Given the description of an element on the screen output the (x, y) to click on. 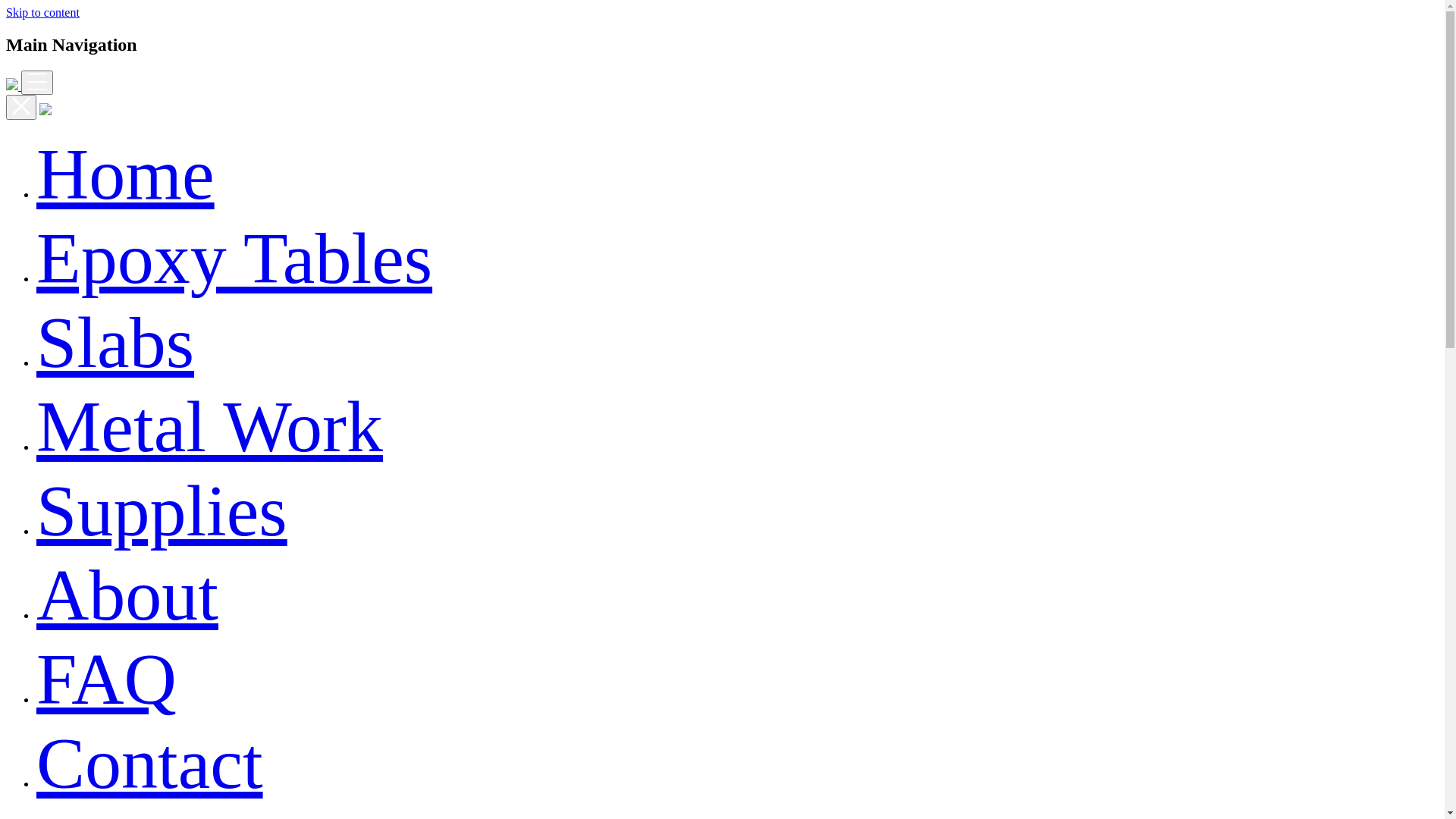
Close Element type: hover (21, 106)
Supplies Element type: text (161, 510)
About Element type: text (127, 594)
Epoxy Tables Element type: text (234, 257)
Home Element type: text (125, 173)
Metal Work Element type: text (209, 426)
Contact Element type: text (149, 762)
Skip to content Element type: text (42, 12)
Slabs Element type: text (115, 341)
FAQ Element type: text (106, 678)
